Given the description of an element on the screen output the (x, y) to click on. 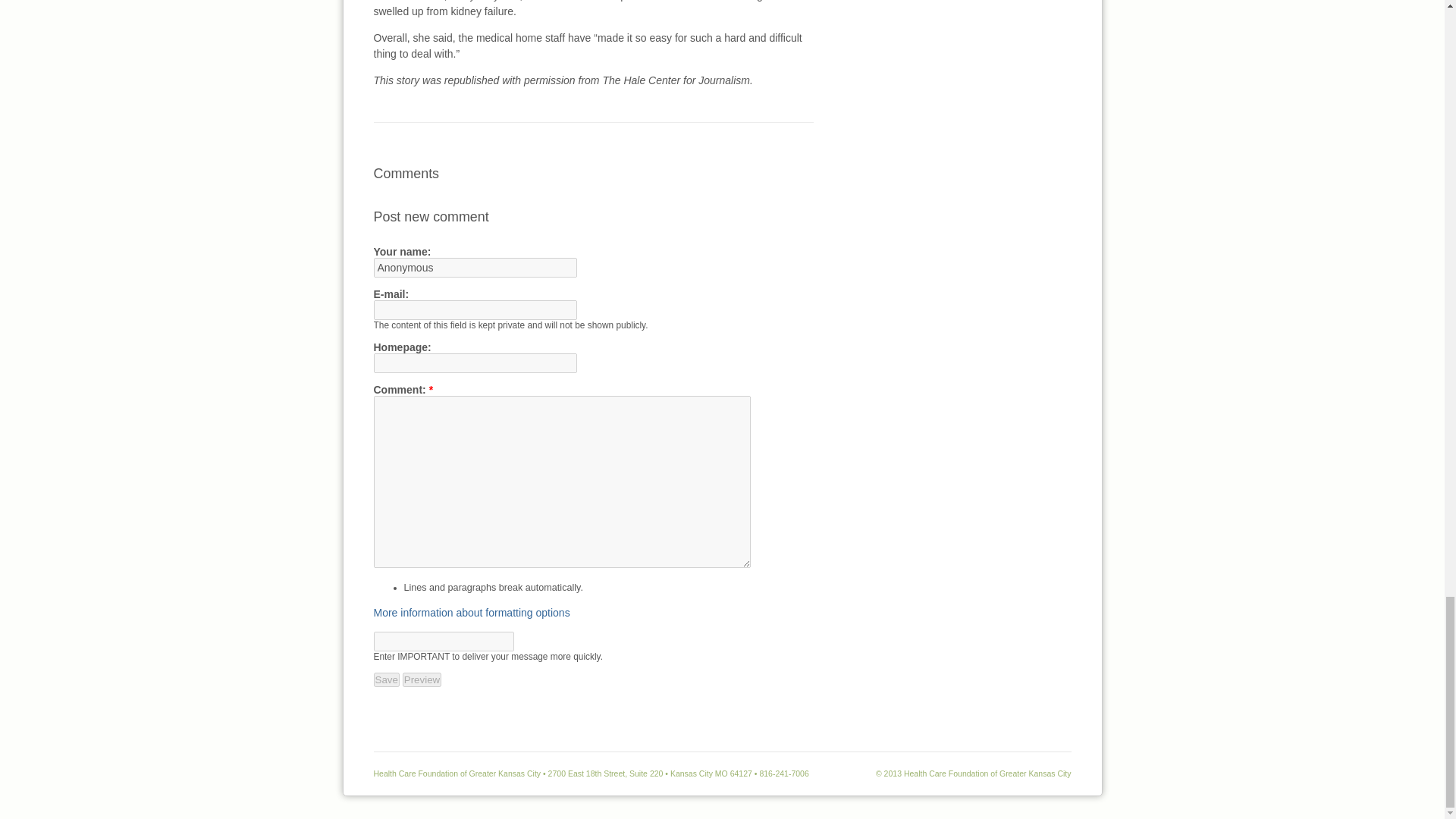
Anonymous (474, 267)
Save (385, 679)
Preview (422, 679)
